Given the description of an element on the screen output the (x, y) to click on. 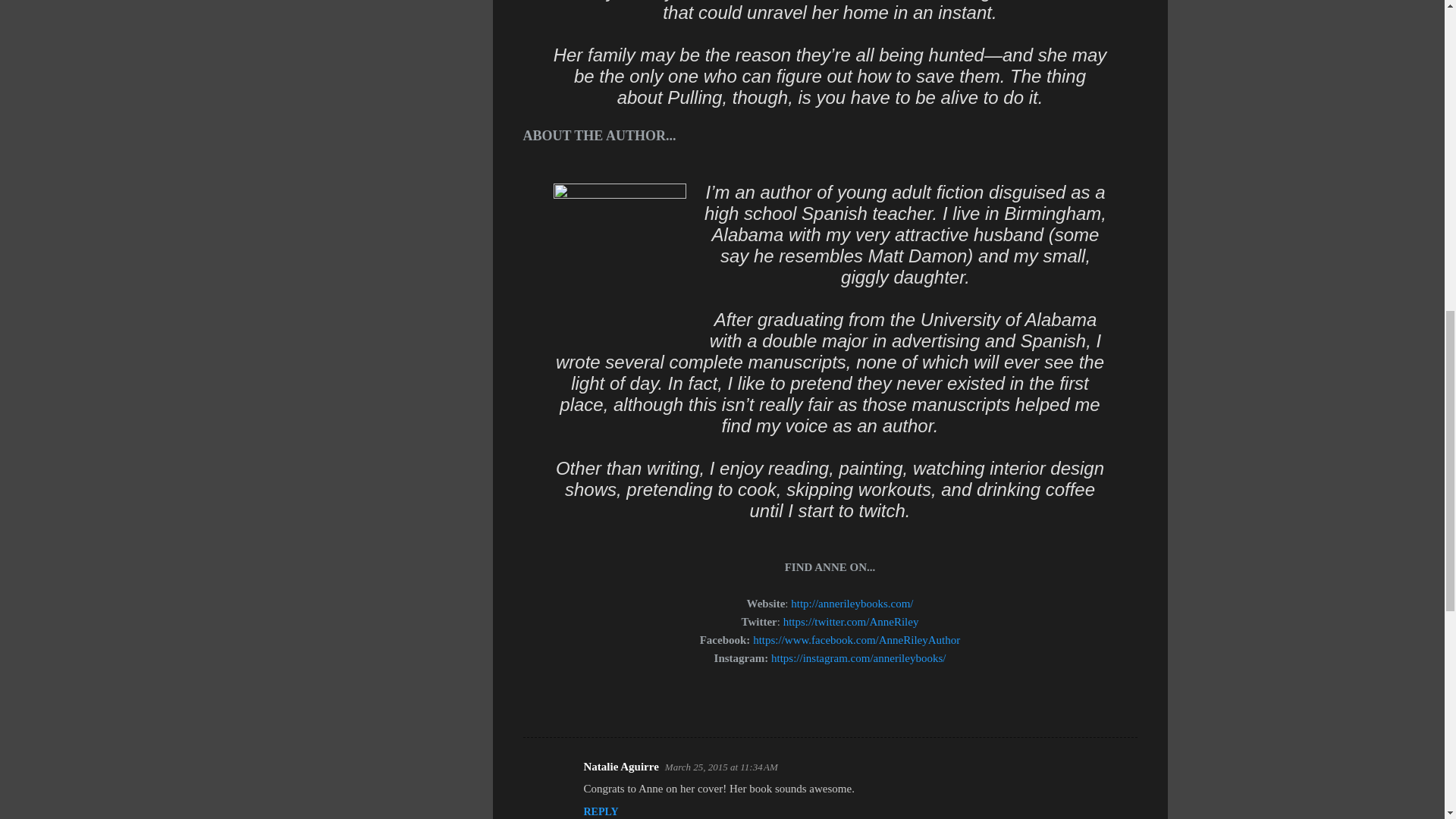
REPLY (600, 811)
Email Post (562, 709)
Natalie Aguirre (621, 766)
